Given the description of an element on the screen output the (x, y) to click on. 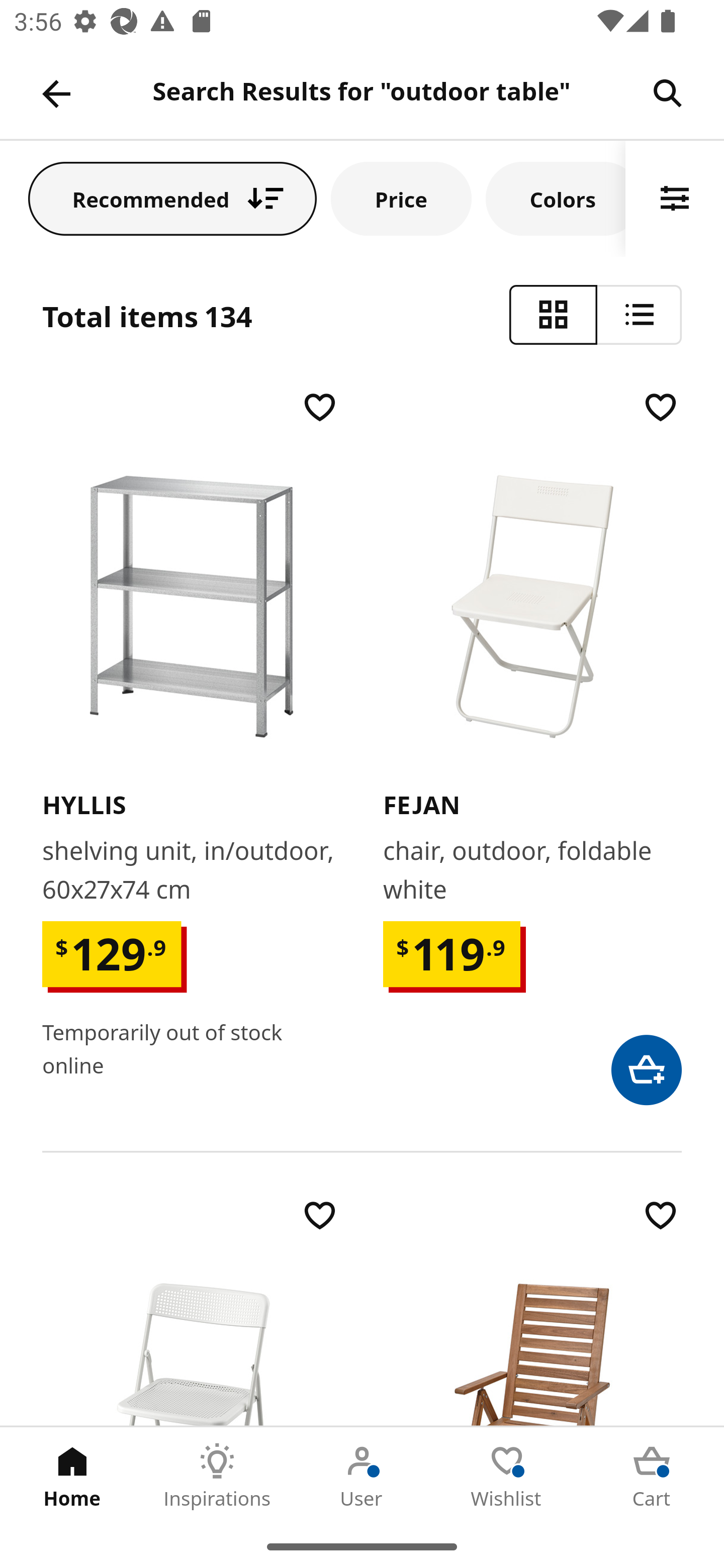
Recommended (172, 198)
Price (400, 198)
Colors (555, 198)
Home
Tab 1 of 5 (72, 1476)
Inspirations
Tab 2 of 5 (216, 1476)
User
Tab 3 of 5 (361, 1476)
Wishlist
Tab 4 of 5 (506, 1476)
Cart
Tab 5 of 5 (651, 1476)
